Given the description of an element on the screen output the (x, y) to click on. 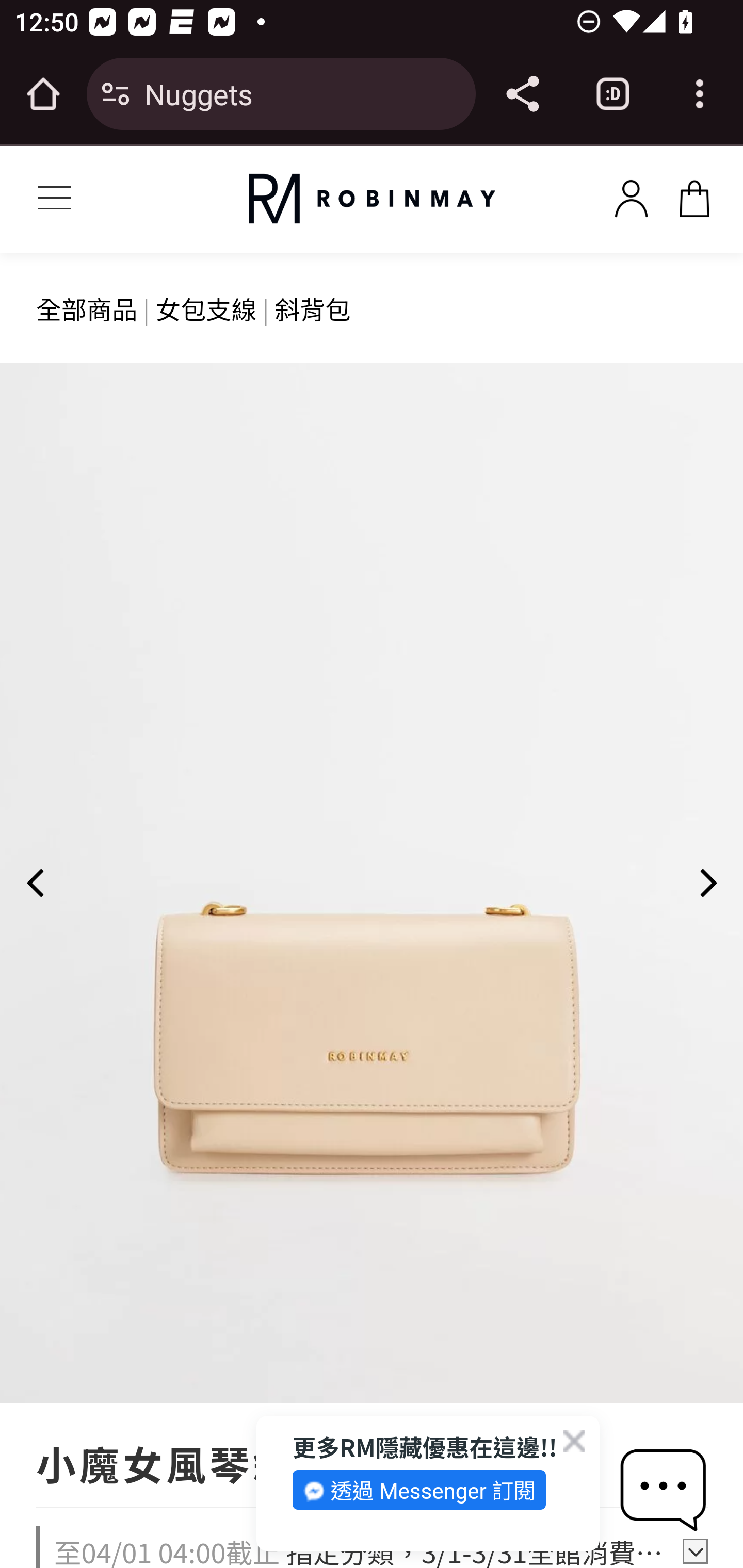
Open the home page (43, 93)
Connection is secure (115, 93)
Share (522, 93)
Switch or close tabs (612, 93)
Customize and control Google Chrome (699, 93)
Nuggets (302, 92)
original (371, 199)
x100 (631, 195)
x100 (694, 195)
全部商品 (87, 308)
女包支線 (206, 308)
斜背包 (313, 308)
